Given the description of an element on the screen output the (x, y) to click on. 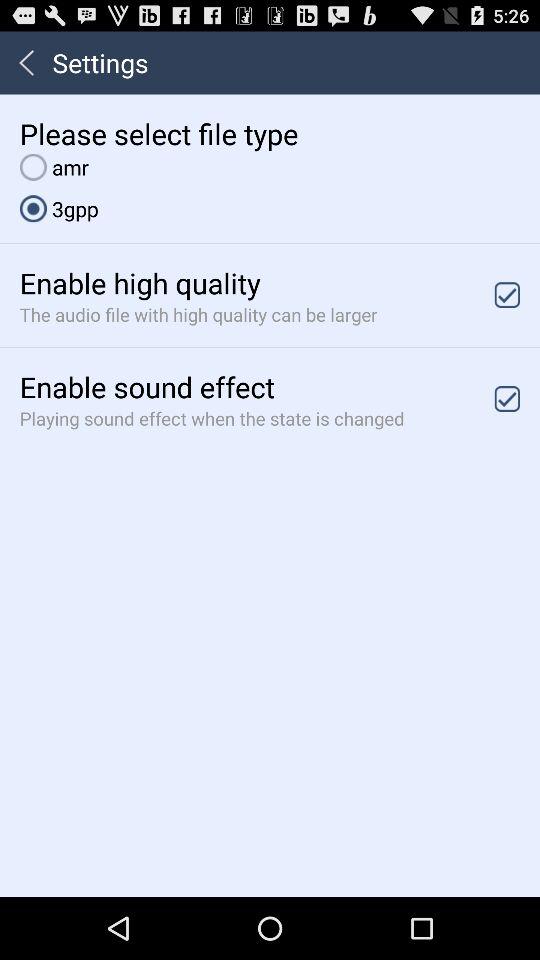
choose app to the right of the the audio file (507, 294)
